Given the description of an element on the screen output the (x, y) to click on. 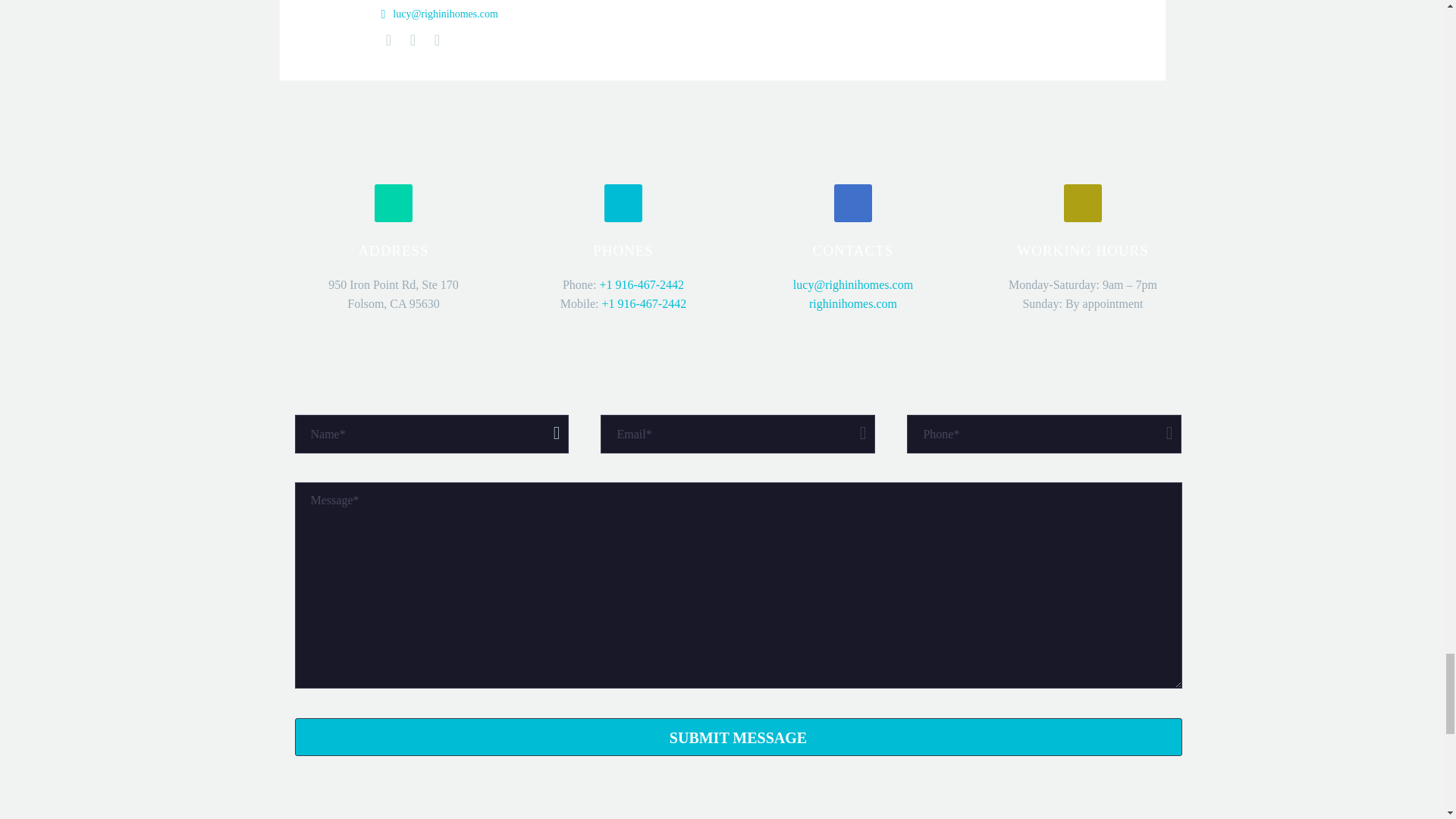
Instagram (436, 39)
Facebook (388, 39)
Submit Message (737, 736)
LinkedIn (412, 39)
